Given the description of an element on the screen output the (x, y) to click on. 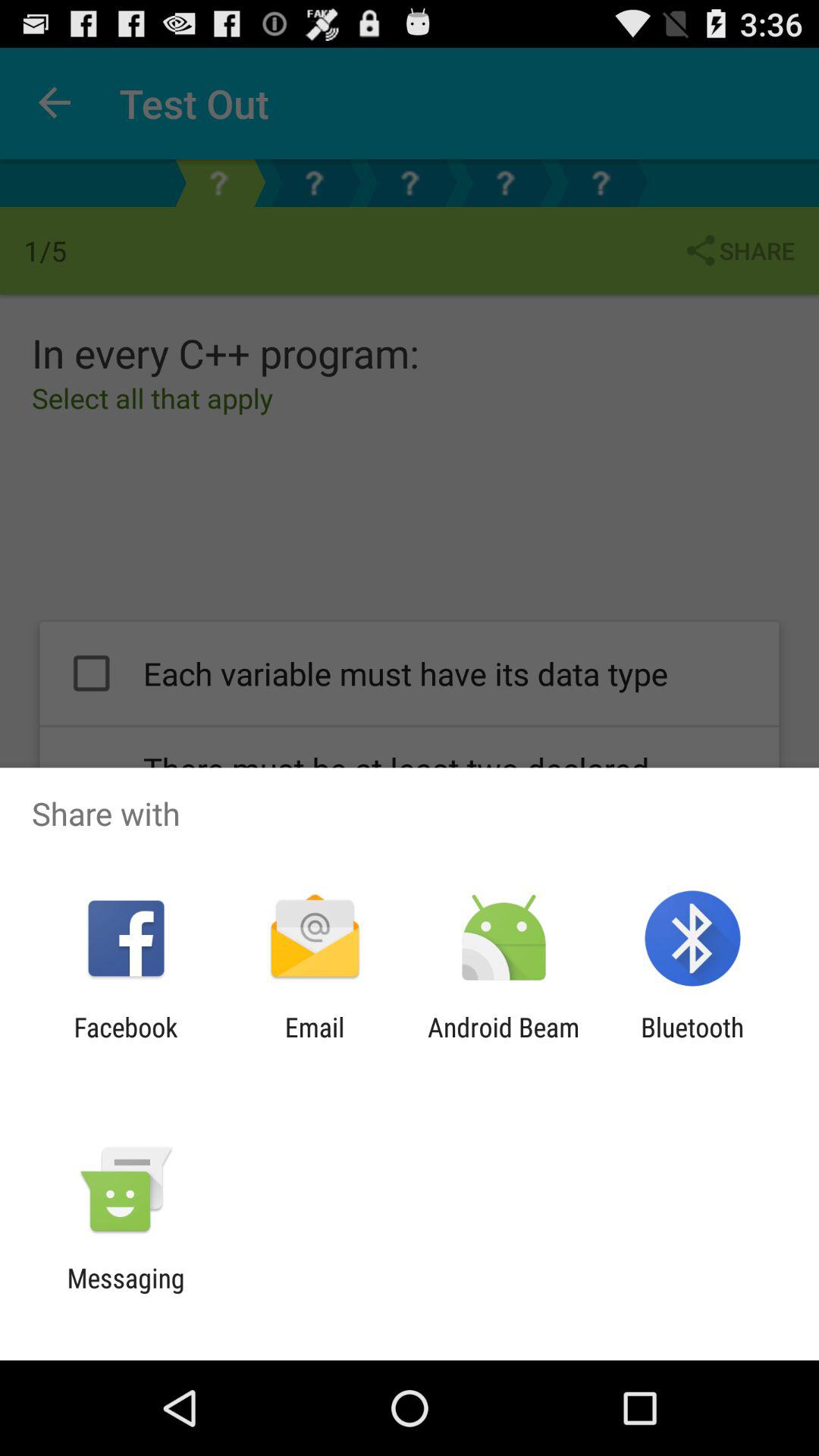
open app next to email (503, 1042)
